Given the description of an element on the screen output the (x, y) to click on. 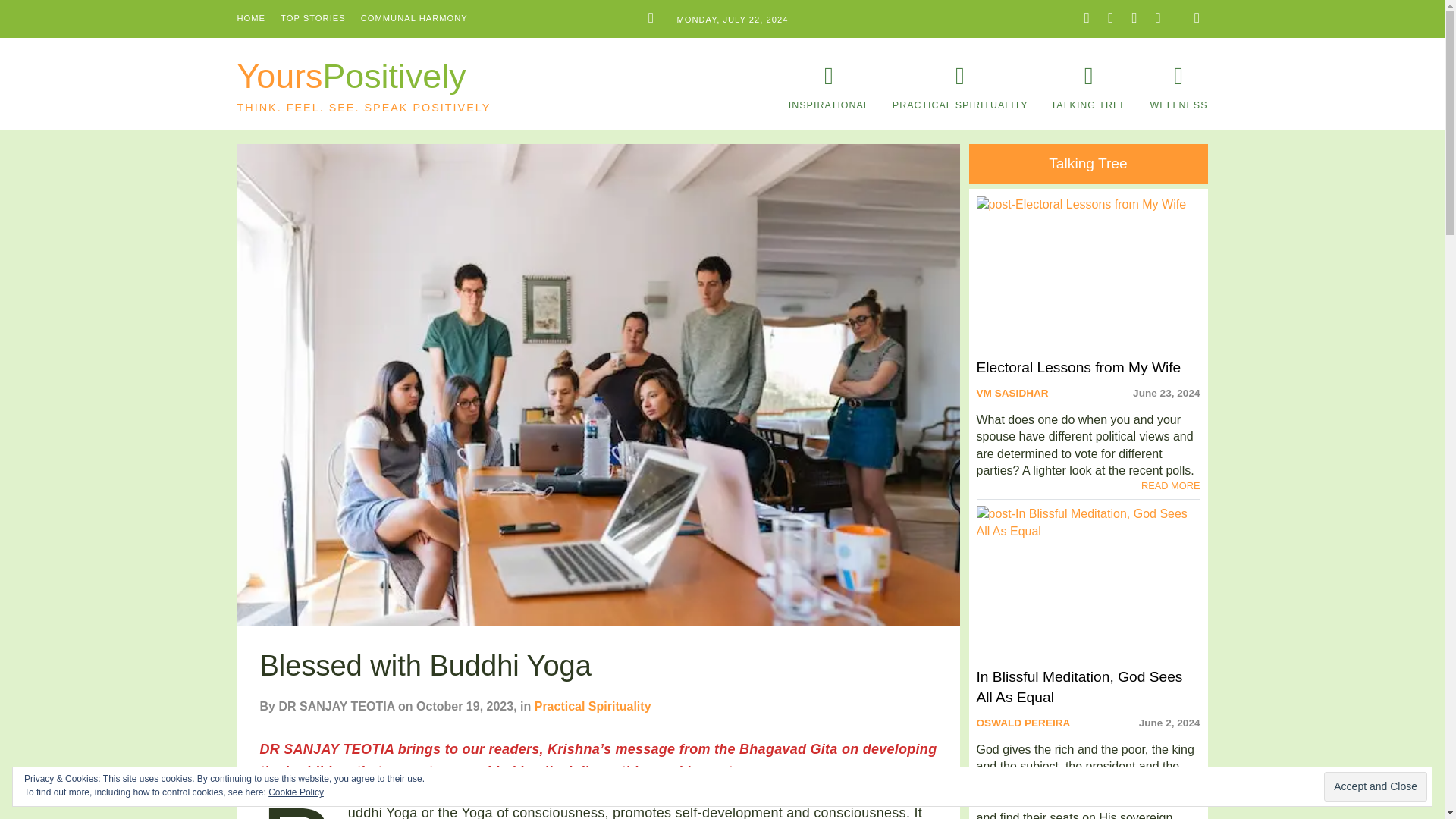
PRACTICAL SPIRITUALITY (959, 87)
WELLNESS (1179, 87)
View articles in Practical Spirituality (592, 706)
Electoral Lessons from My Wife (1087, 287)
READ MORE (1170, 486)
TOP STORIES (313, 18)
View all articles in Talking Tree (389, 95)
Practical Spirituality (1088, 163)
OSWALD PEREIRA (592, 706)
Read In Blissful Meditation, God Sees All As Equal (1023, 722)
INSPIRATIONAL (1087, 607)
In Blissful Meditation, God Sees All As Equal (829, 87)
THINK. FEEL. SEE. SPEAK POSITIVELY (1087, 607)
COMMUNAL HARMONY (389, 95)
